Given the description of an element on the screen output the (x, y) to click on. 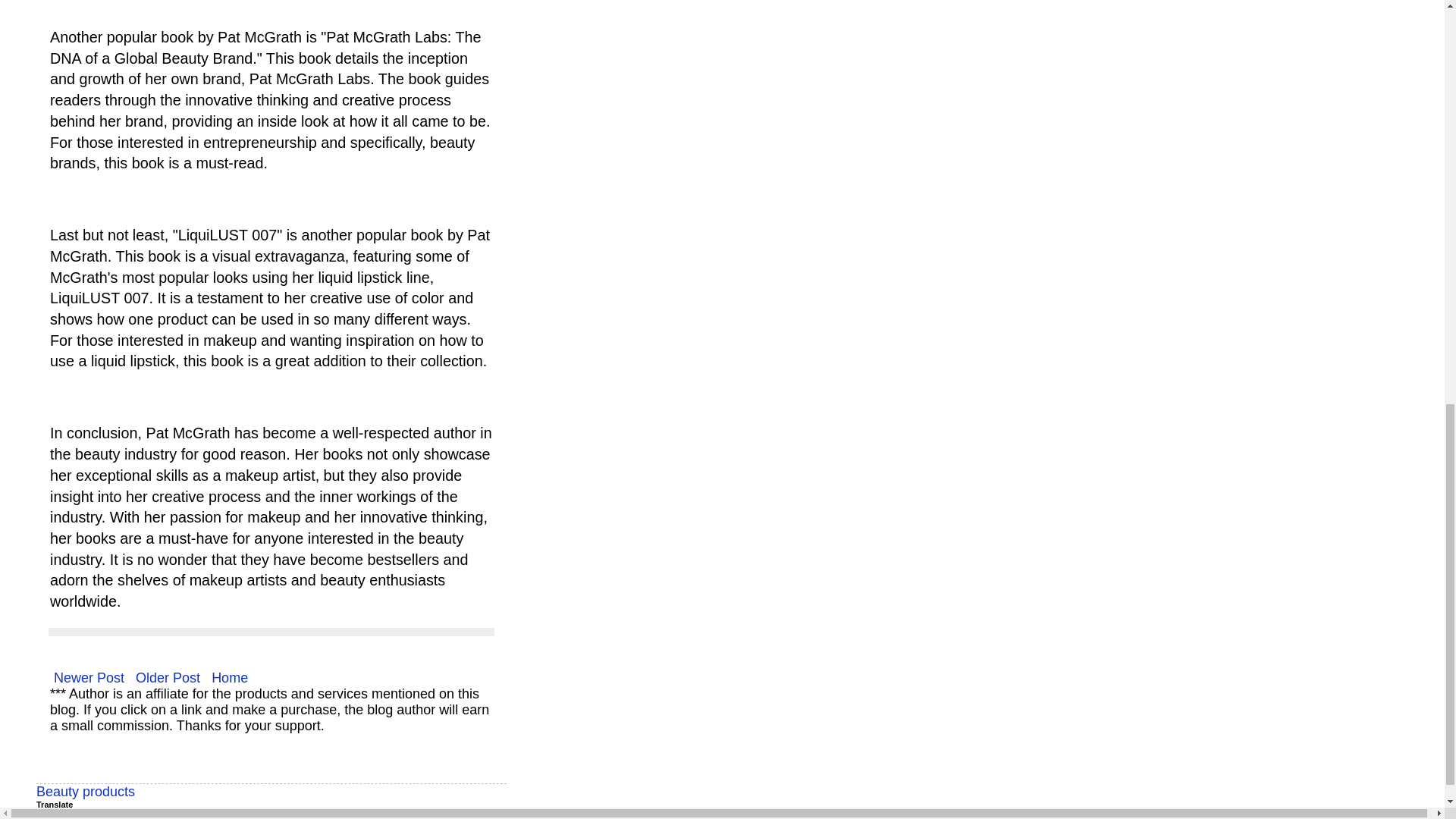
Older Post (167, 677)
Newer Post (88, 677)
Older Post (167, 677)
Newer Post (88, 677)
Home (229, 677)
Beauty products (85, 791)
